Given the description of an element on the screen output the (x, y) to click on. 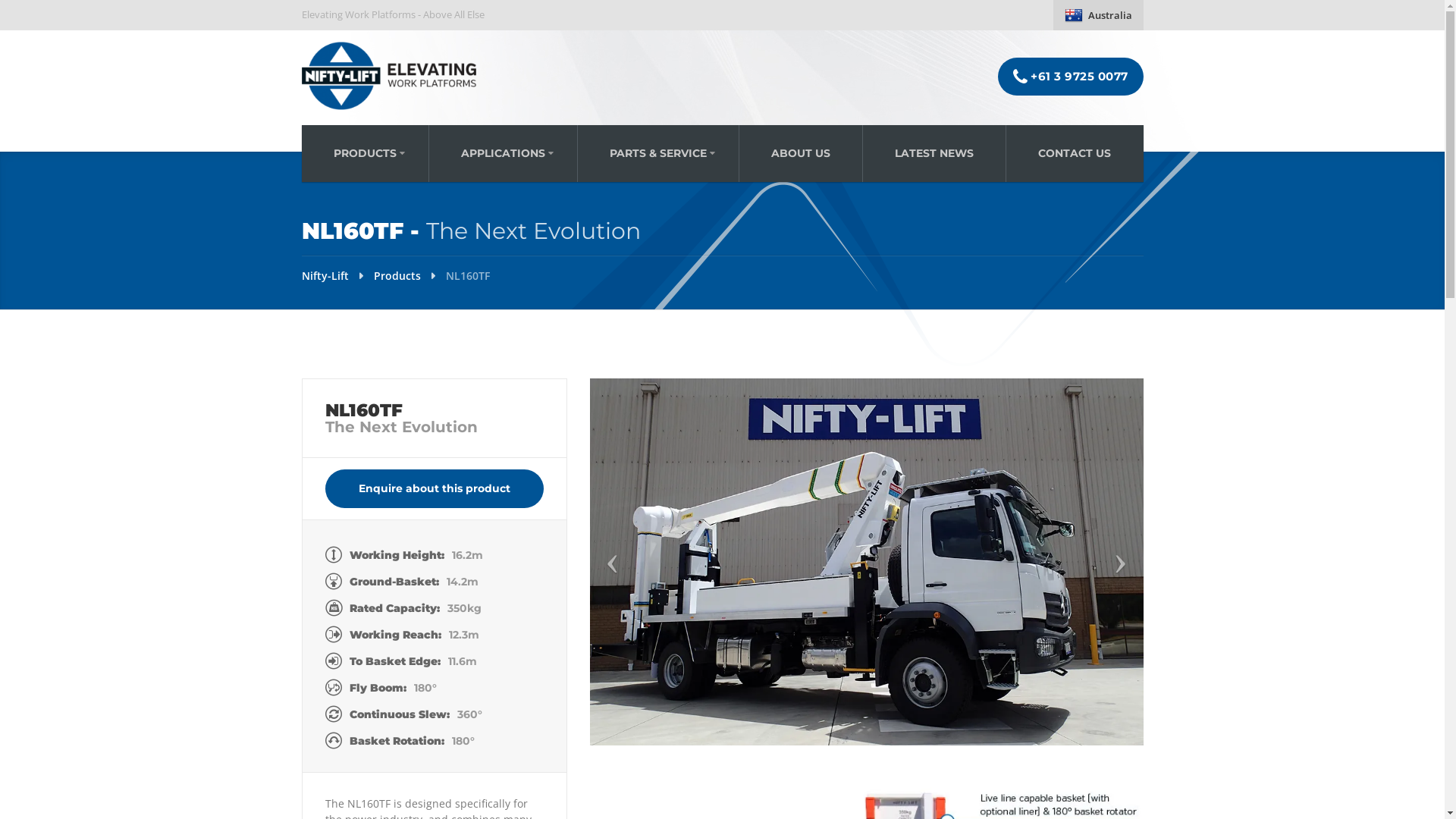
LATEST NEWS Element type: text (934, 153)
+61 3 9725 0077 Element type: text (1070, 76)
PRODUCTS Element type: text (365, 153)
Nifty-Lift Element type: text (324, 275)
Products Element type: text (396, 275)
APPLICATIONS Element type: text (503, 153)
CONTACT US Element type: text (1073, 153)
ABOUT US Element type: text (800, 153)
Enquire about this product Element type: text (433, 488)
PARTS & SERVICE Element type: text (658, 153)
